Given the description of an element on the screen output the (x, y) to click on. 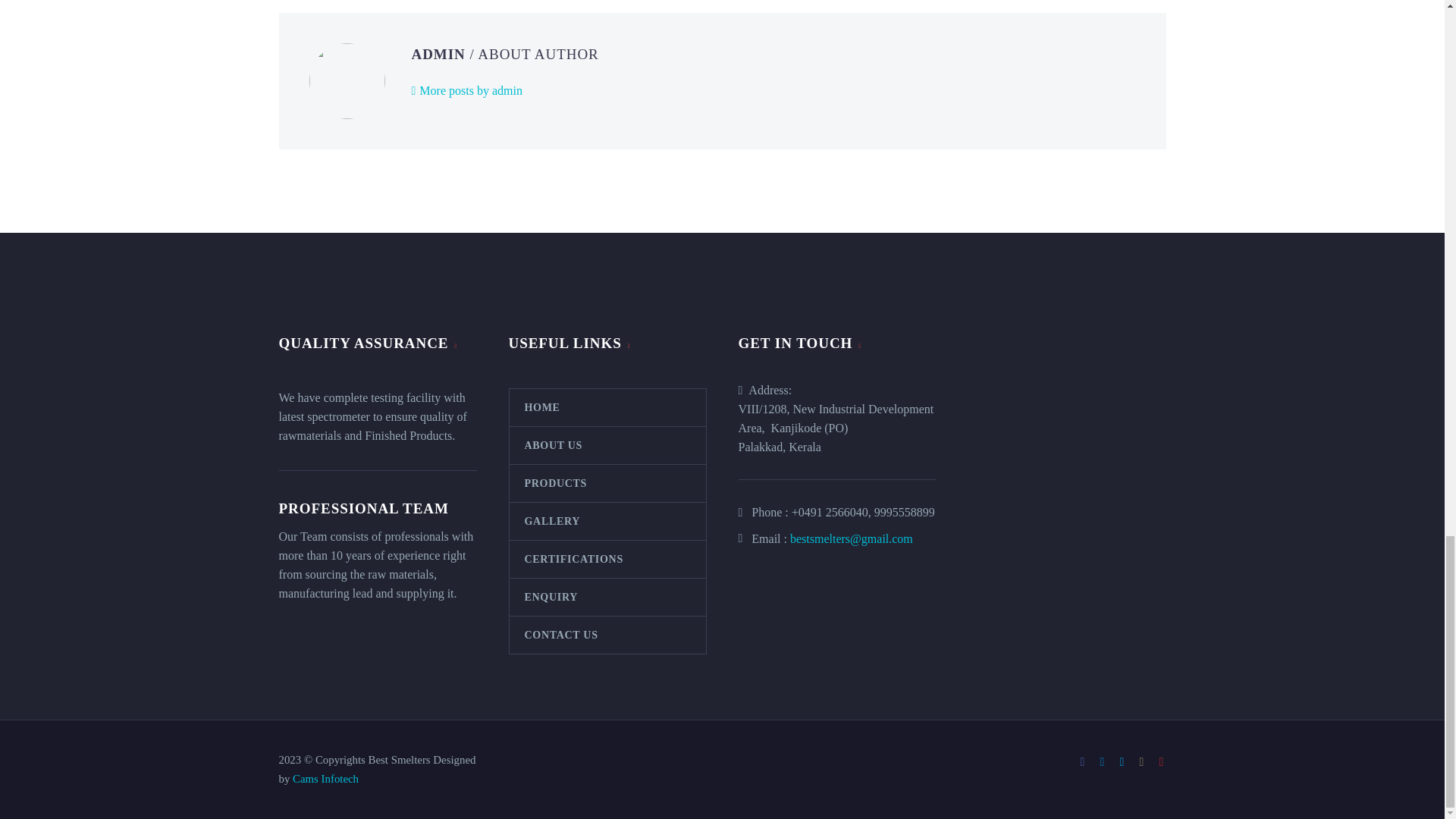
CONTACT US (607, 633)
More posts by admin (465, 89)
ENQUIRY (607, 596)
Facebook (1083, 761)
ABOUT US (607, 444)
CERTIFICATIONS (607, 558)
PRODUCTS (607, 482)
GALLERY (607, 520)
LinkedIn (1102, 761)
HOME (607, 406)
